Given the description of an element on the screen output the (x, y) to click on. 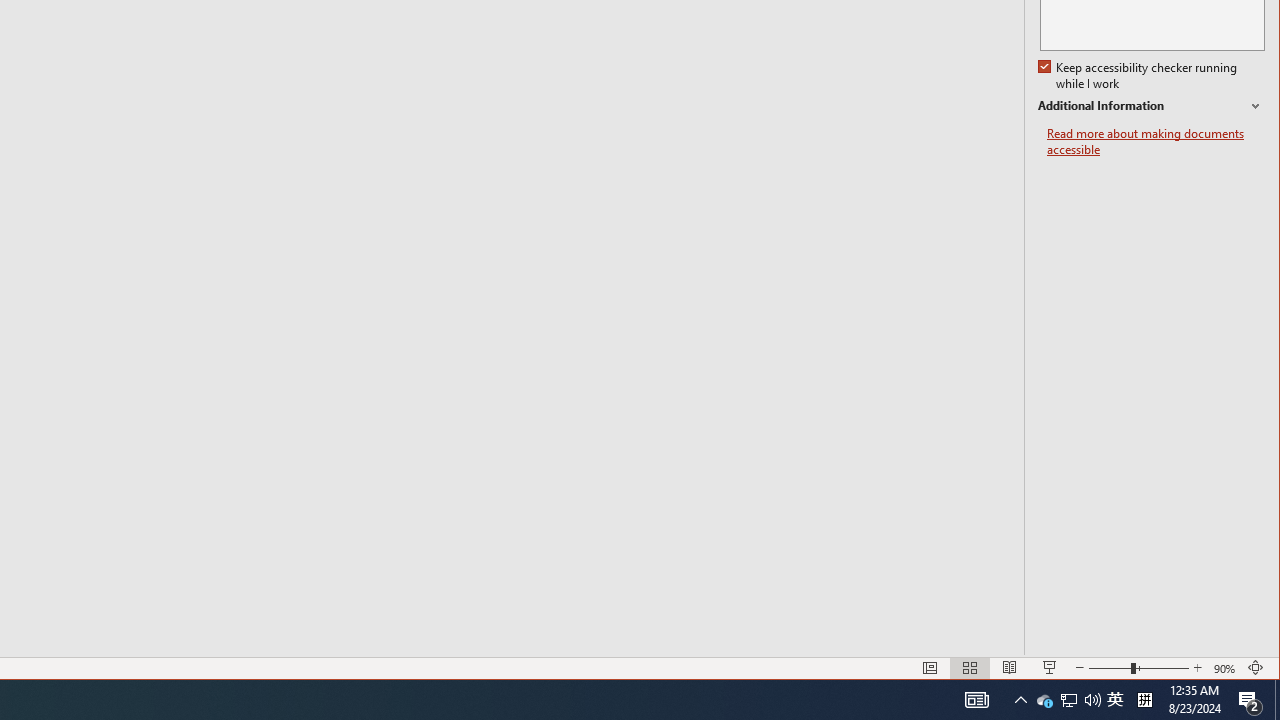
Zoom 90% (1225, 668)
